Given the description of an element on the screen output the (x, y) to click on. 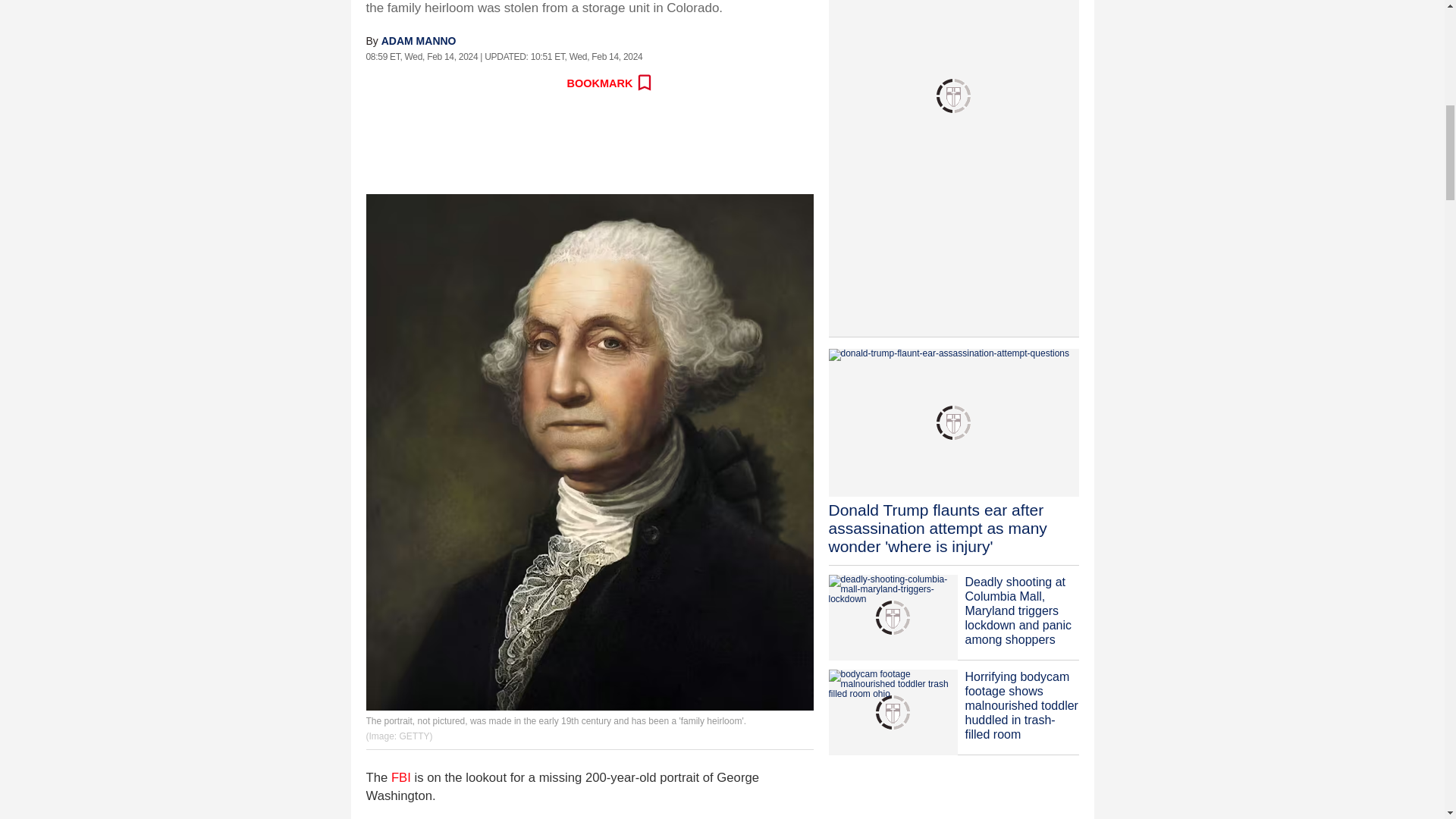
Share on Twitter (411, 83)
bodycam footage malnourished toddler trash filled room ohio (892, 712)
Share on LinkedIn (478, 83)
Share on Reddit (445, 83)
deadly-shooting-columbia-mall-maryland-triggers-lockdown (892, 617)
Share on Facebook (378, 83)
donald-trump-flaunt-ear-assassination-attempt-questions (953, 422)
Share on Pinterest (511, 83)
Copy link (544, 83)
ADAM MANNO (419, 40)
FBI (400, 777)
